Given the description of an element on the screen output the (x, y) to click on. 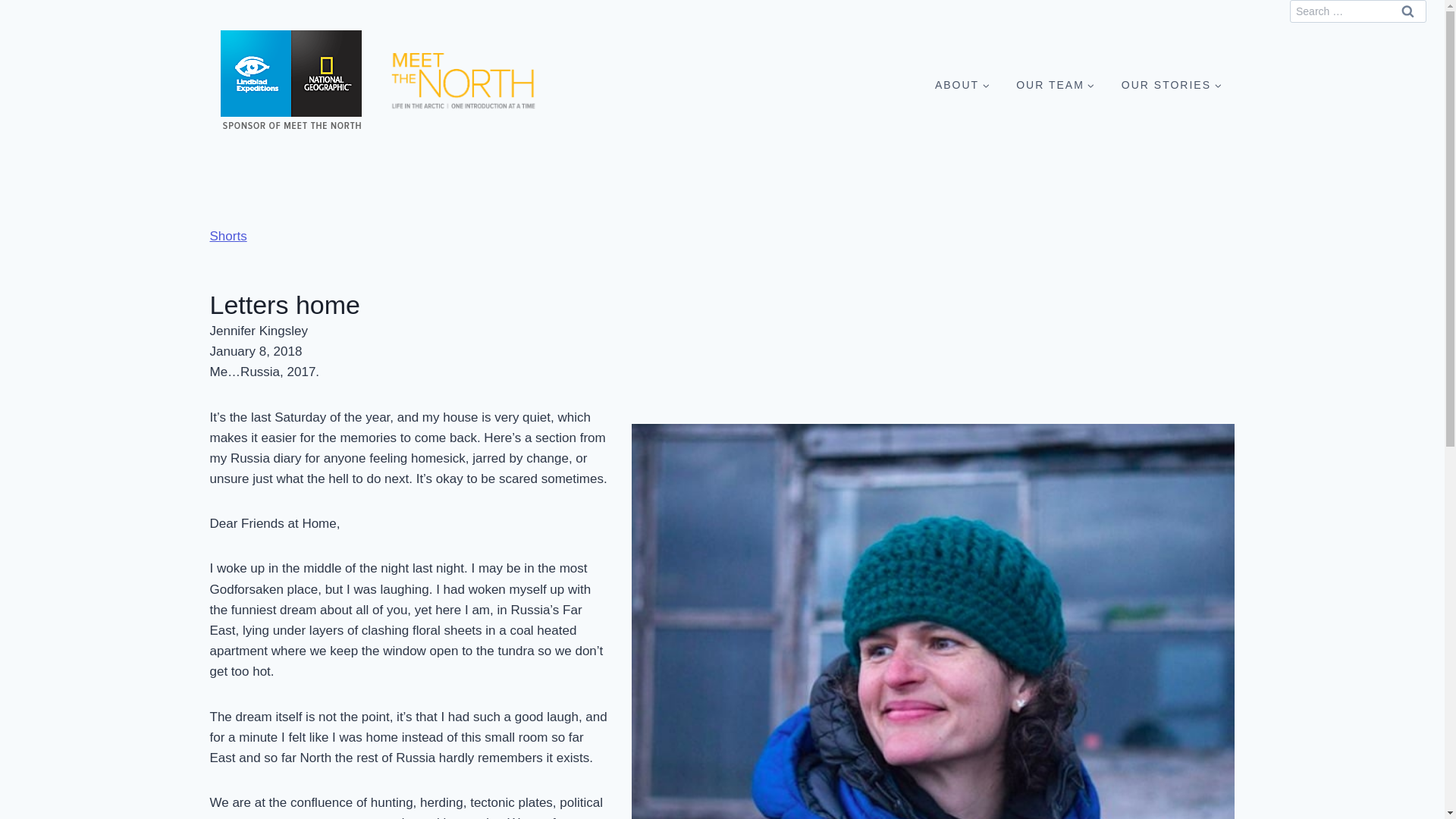
Search (1407, 11)
OUR TEAM (1055, 84)
Search (1407, 11)
Search (1407, 11)
Shorts (227, 236)
OUR STORIES (1171, 84)
ABOUT (962, 84)
